Given the description of an element on the screen output the (x, y) to click on. 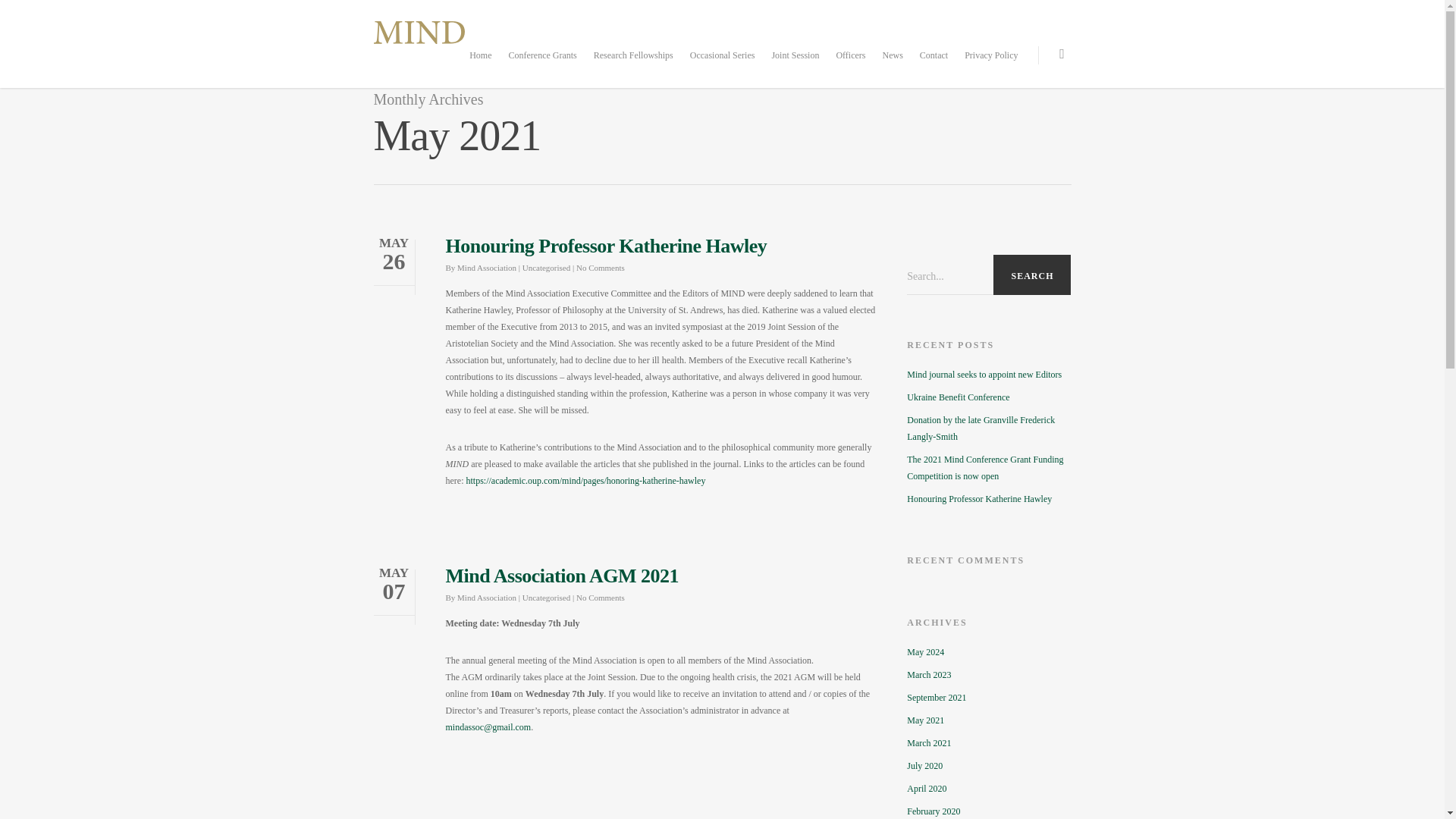
Mind Association (486, 596)
No Comments (600, 266)
September 2021 (988, 697)
Ukraine Benefit Conference (988, 397)
Mind Association (486, 266)
Joint Session (794, 65)
Search (1031, 275)
March 2023 (988, 674)
Posts by Mind Association (486, 266)
May 2024 (988, 651)
Honouring Professor Katherine Hawley (988, 498)
Search (1031, 275)
Honouring Professor Katherine Hawley (606, 246)
No Comments (600, 596)
May 2021 (988, 719)
